Given the description of an element on the screen output the (x, y) to click on. 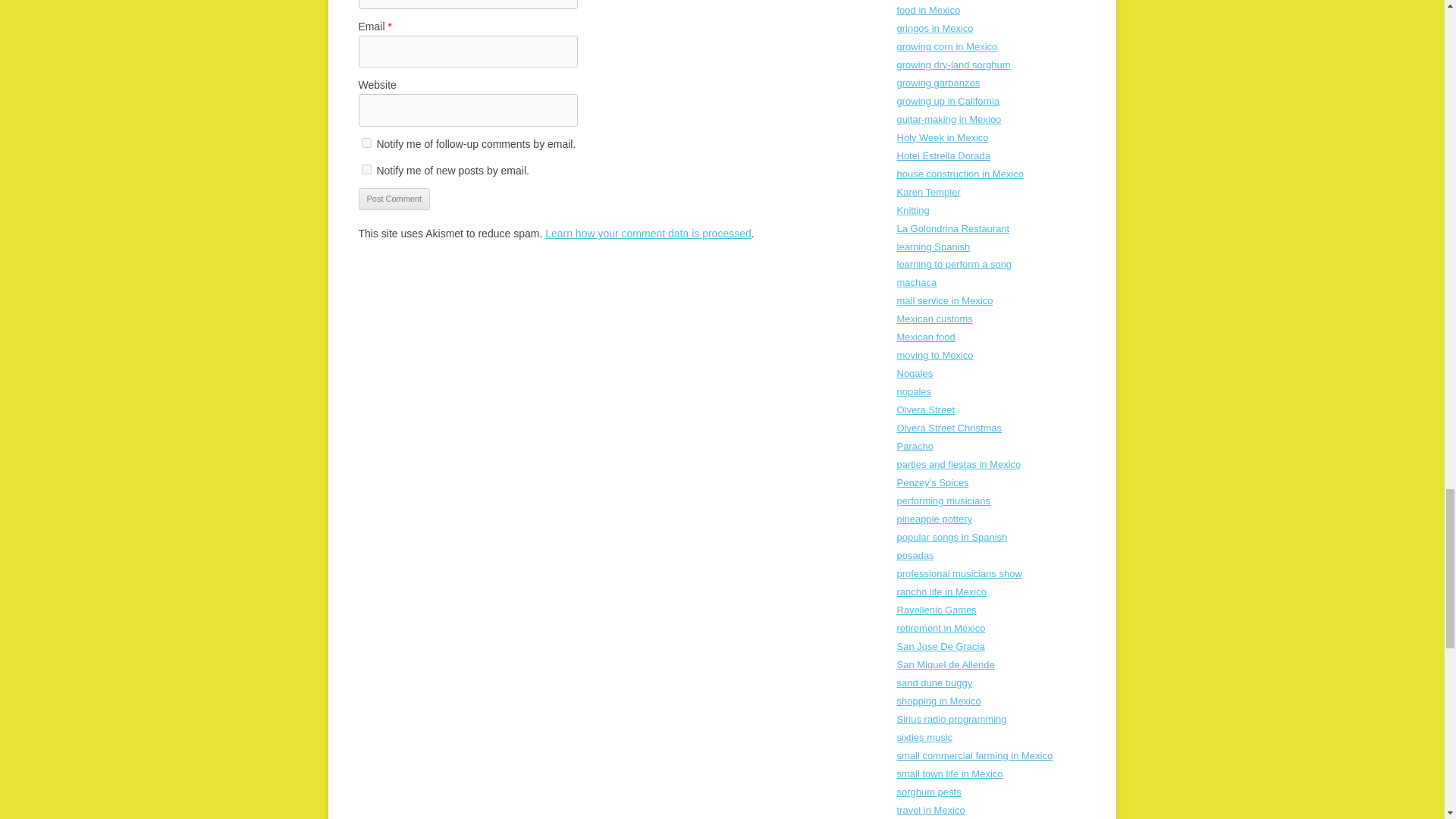
Post Comment (393, 199)
subscribe (366, 169)
Post Comment (393, 199)
Learn how your comment data is processed (647, 233)
subscribe (366, 143)
